Given the description of an element on the screen output the (x, y) to click on. 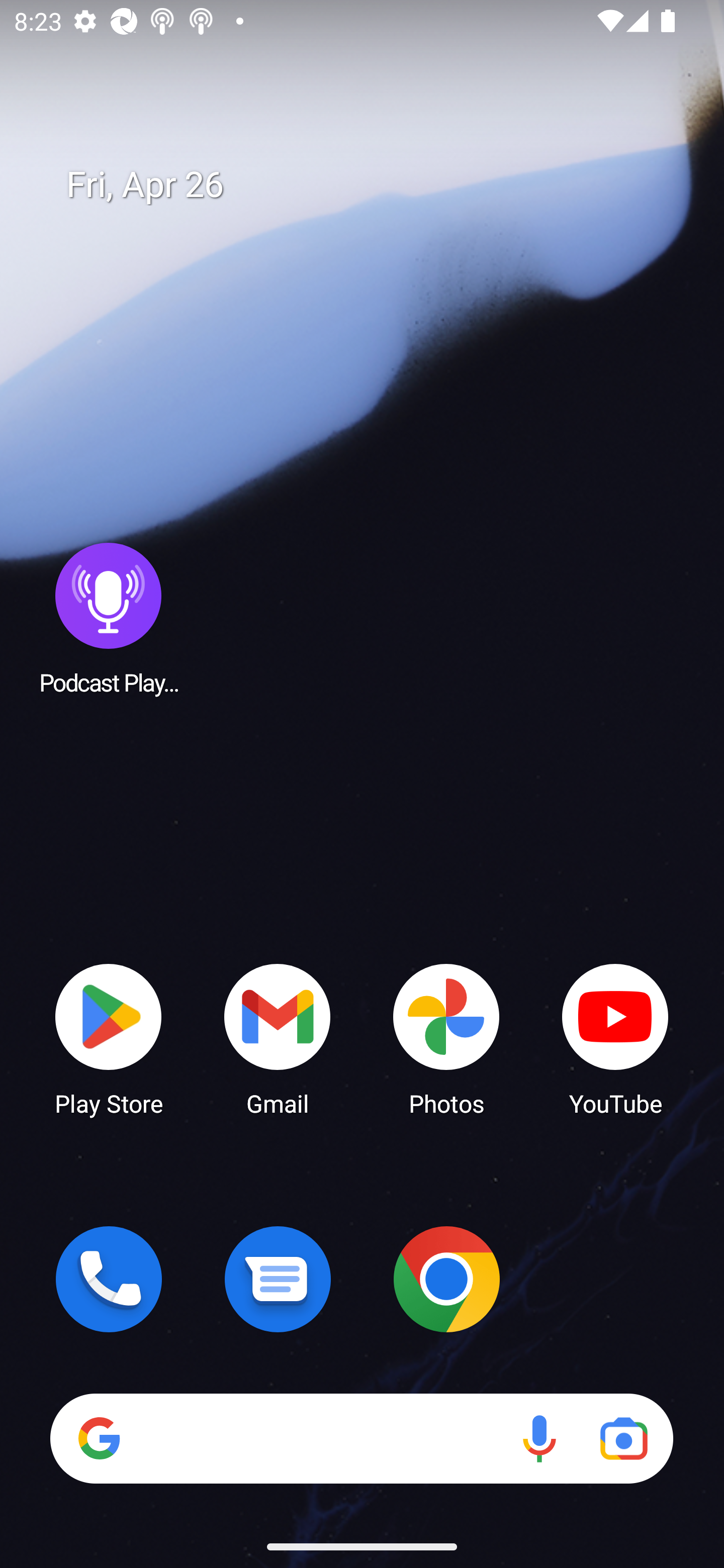
Fri, Apr 26 (375, 184)
Podcast Player (108, 617)
Play Store (108, 1038)
Gmail (277, 1038)
Photos (445, 1038)
YouTube (615, 1038)
Phone (108, 1279)
Messages (277, 1279)
Chrome (446, 1279)
Search Voice search Google Lens (361, 1438)
Voice search (539, 1438)
Google Lens (623, 1438)
